Given the description of an element on the screen output the (x, y) to click on. 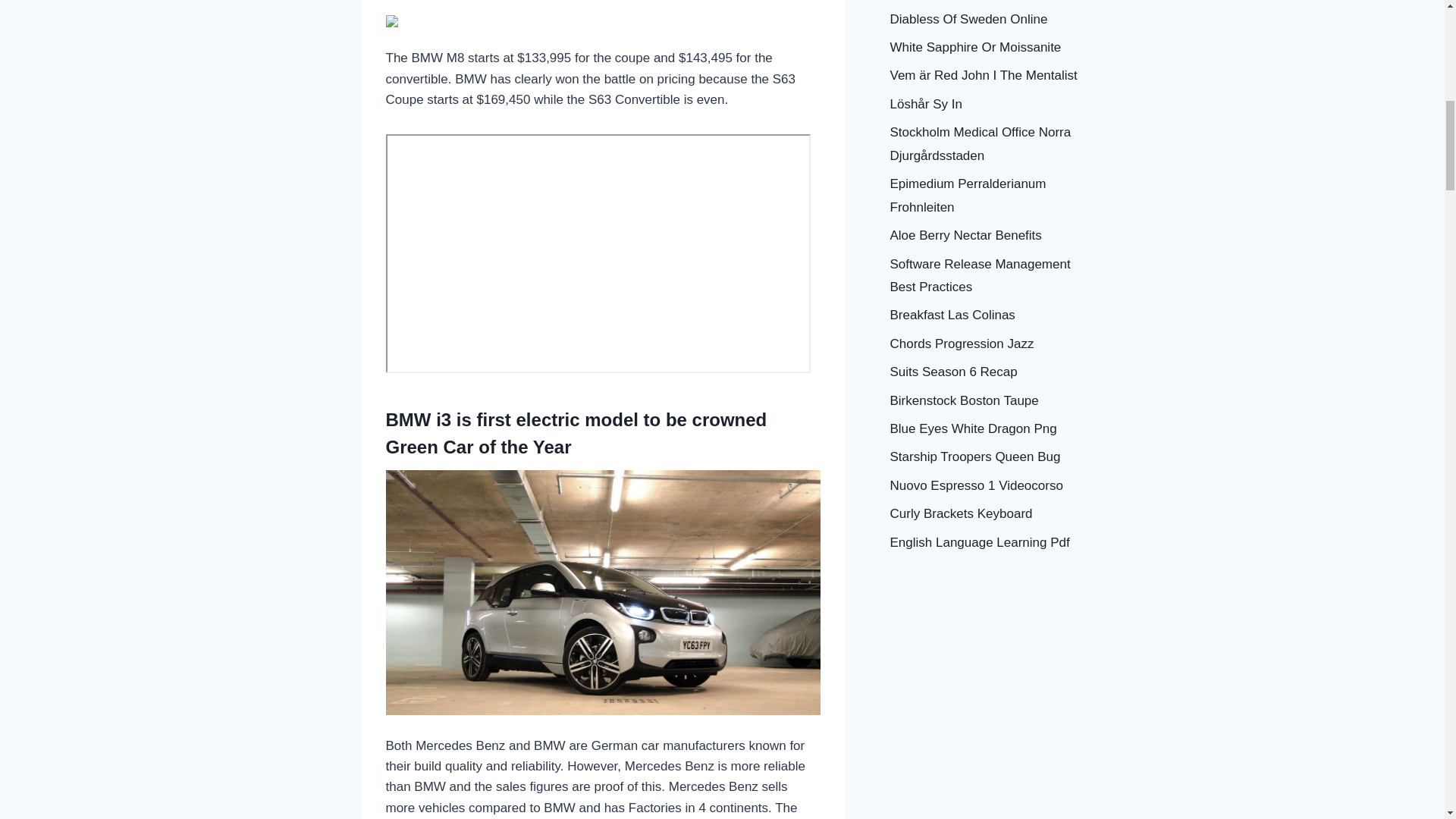
Breakfast Las Colinas (951, 314)
Epimedium Perralderianum Frohnleiten (967, 195)
Aloe Berry Nectar Benefits (965, 235)
Diabless Of Sweden Online (968, 19)
White Sapphire Or Moissanite (975, 47)
Software Release Management Best Practices (979, 275)
